Given the description of an element on the screen output the (x, y) to click on. 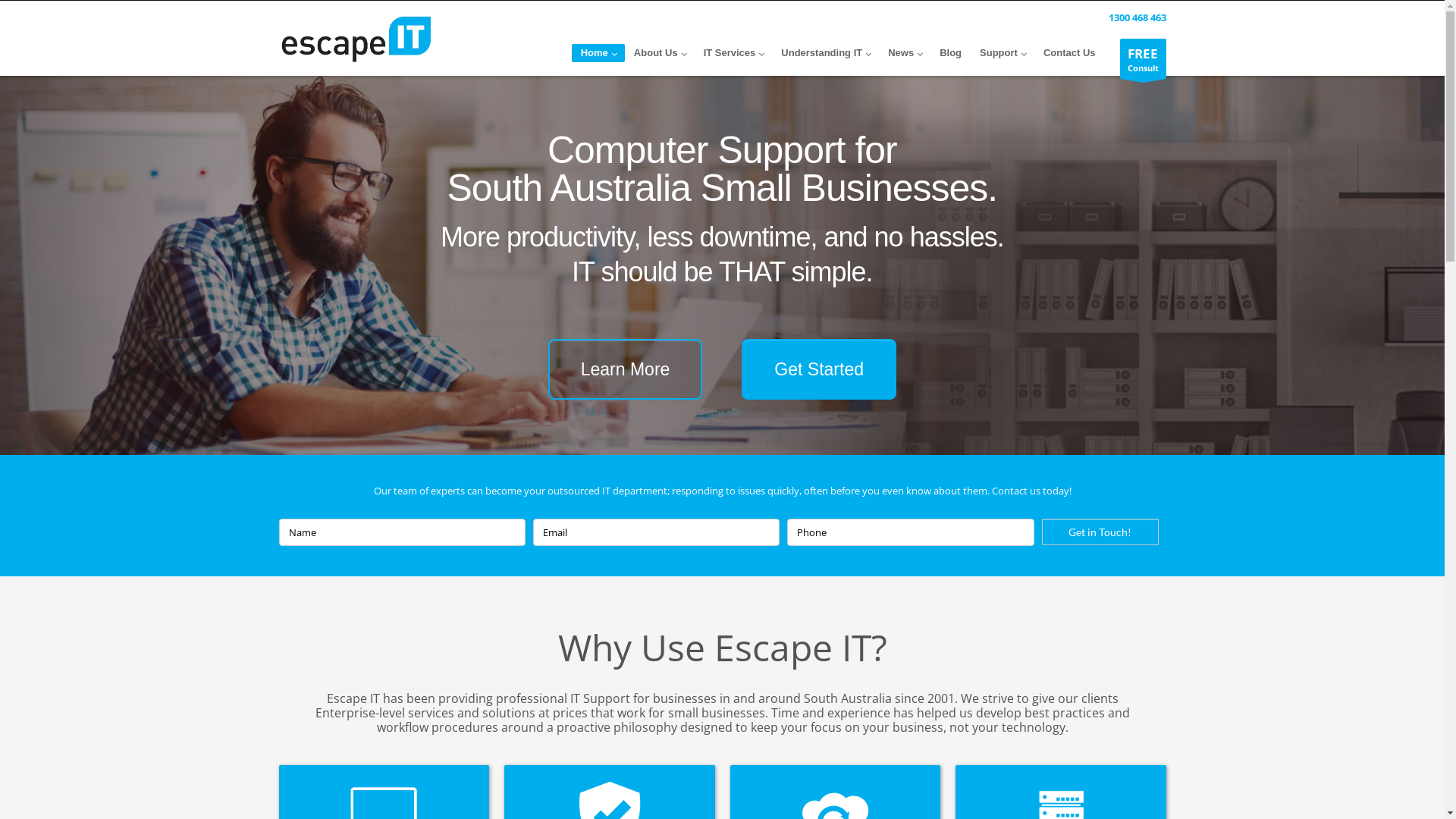
1300 468 463 Element type: text (1134, 17)
Home Element type: hover (356, 38)
IT Services Element type: text (733, 52)
About Us Element type: text (659, 52)
Home Element type: text (597, 52)
Blog Element type: text (950, 52)
Learn More Element type: text (625, 368)
Contact Us Element type: text (1069, 52)
Get Started Element type: text (818, 368)
Get in Touch! Element type: text (1099, 531)
News Element type: text (904, 52)
Understanding IT Element type: text (824, 52)
FREE
Consult Element type: text (1142, 58)
Support Element type: text (1002, 52)
